Given the description of an element on the screen output the (x, y) to click on. 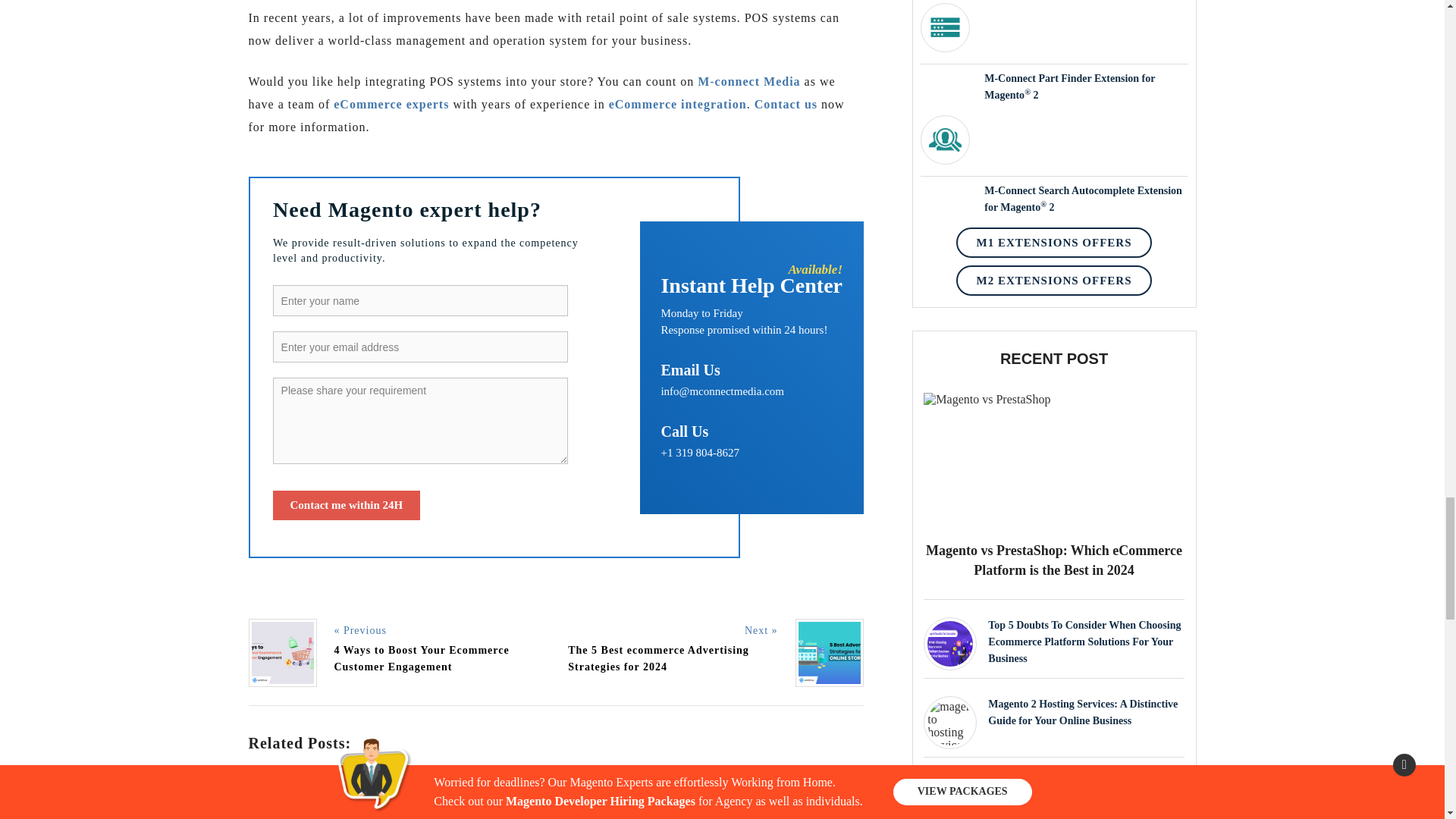
eCommerce experts (390, 103)
eCommerce integration (677, 103)
The 5 Best ecommerce Advertising Strategies for 2024 (549, 791)
4 Ways to Boost Your Ecommerce Customer Engagement (420, 658)
Contact us (785, 103)
M-connect Media (748, 81)
Contact me within 24H (346, 505)
The 5 Best ecommerce Advertising Strategies for 2024 (658, 658)
Contact me within 24H (346, 505)
